Given the description of an element on the screen output the (x, y) to click on. 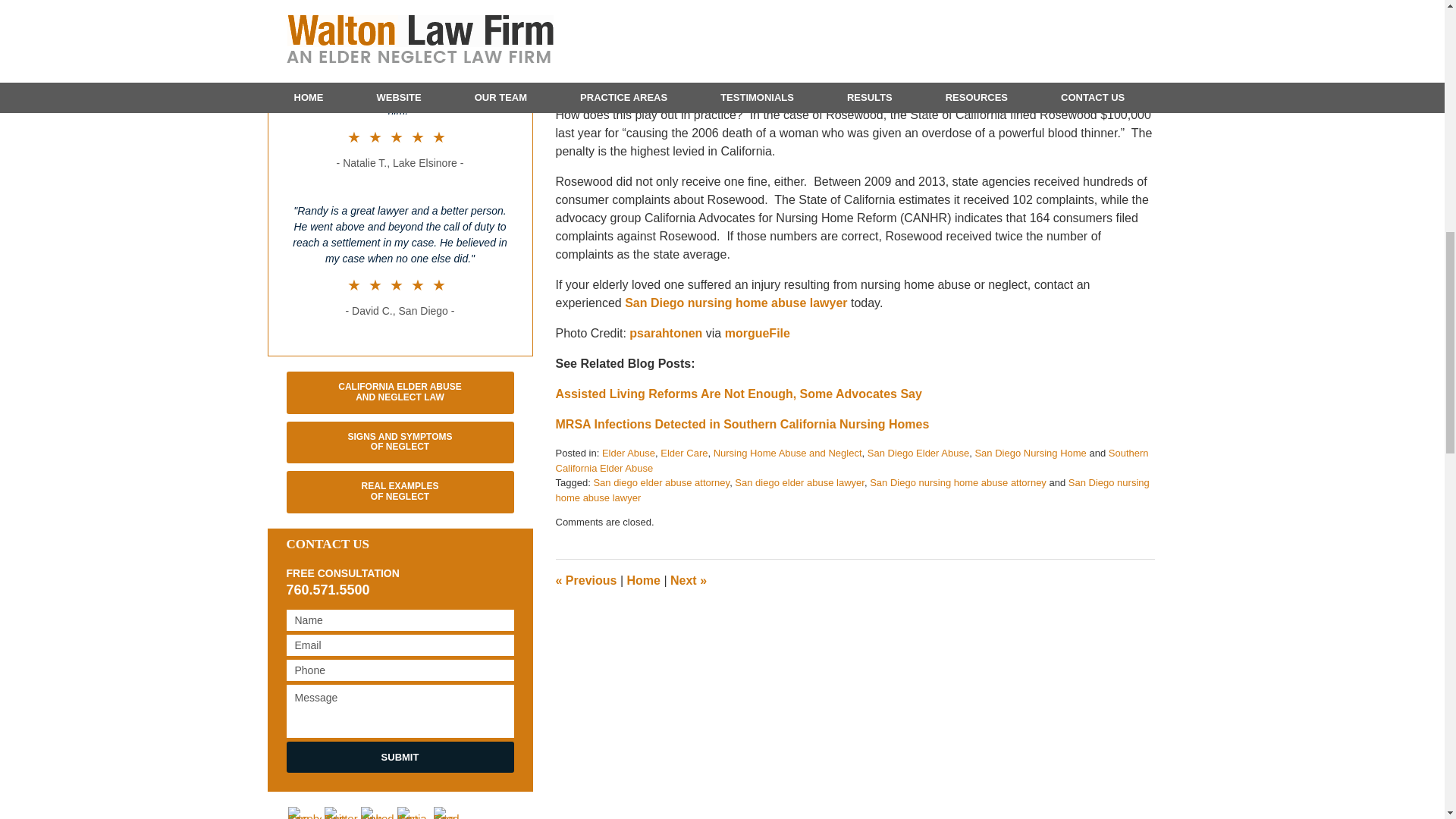
morgueFile (757, 332)
View all posts tagged with San diego elder abuse lawyer (799, 482)
Please enter a valid phone number. (399, 670)
Facebook (304, 812)
morgueFile (757, 332)
Assisted Living Reforms Are Not Enough, Some Advocates Say (584, 580)
Assisted Living Reforms Are Not Enough, Some Advocates Say (737, 393)
View all posts in Elder Abuse (628, 452)
